Given the description of an element on the screen output the (x, y) to click on. 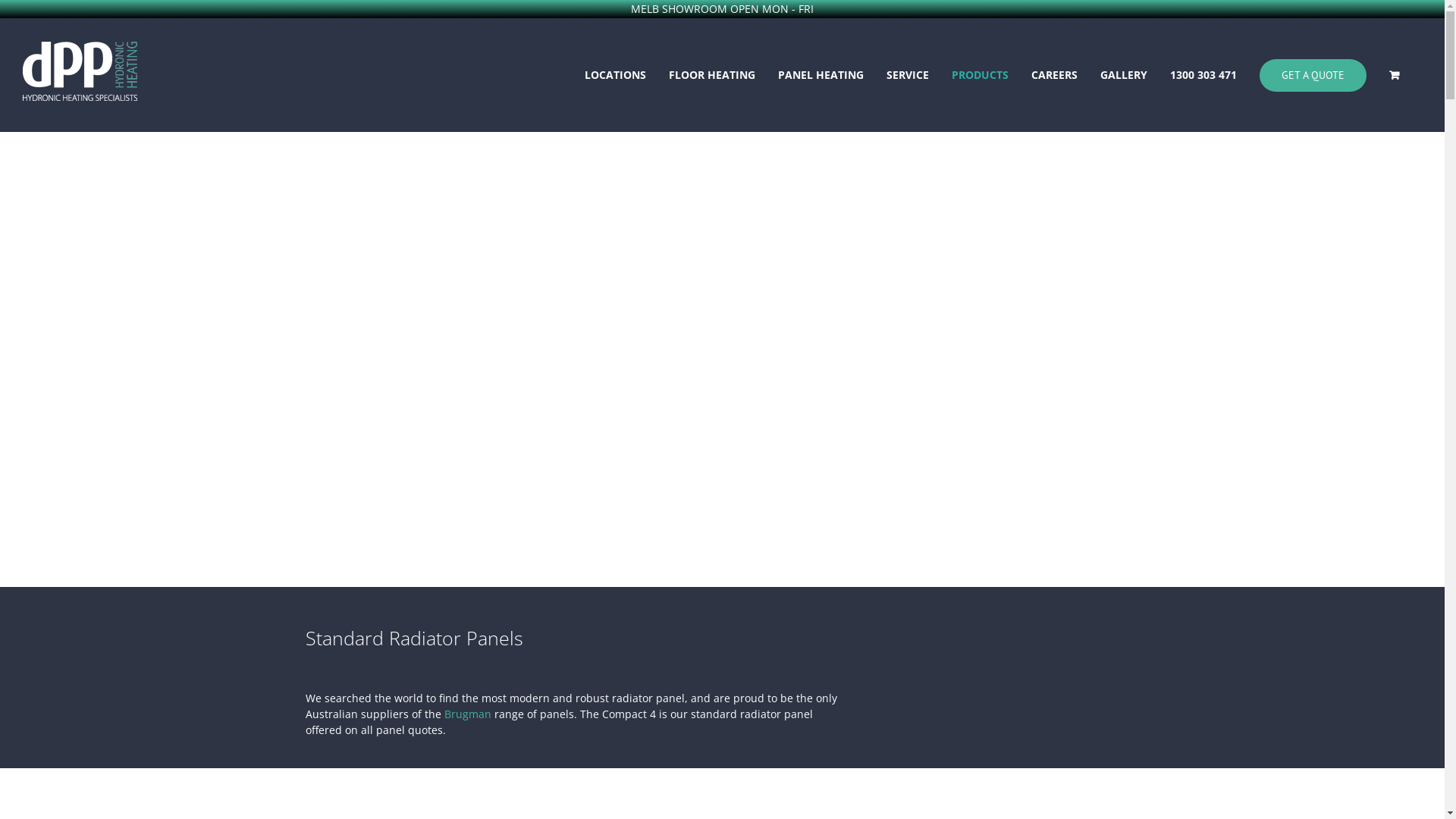
GALLERY Element type: text (1123, 74)
FLOOR HEATING Element type: text (711, 74)
SERVICE Element type: text (907, 74)
GET A QUOTE Element type: text (1312, 74)
CAREERS Element type: text (1054, 74)
1300 303 471 Element type: text (1203, 74)
LOCATIONS Element type: text (615, 74)
Brugman Element type: text (467, 713)
PANEL HEATING Element type: text (820, 74)
PRODUCTS Element type: text (979, 74)
